Given the description of an element on the screen output the (x, y) to click on. 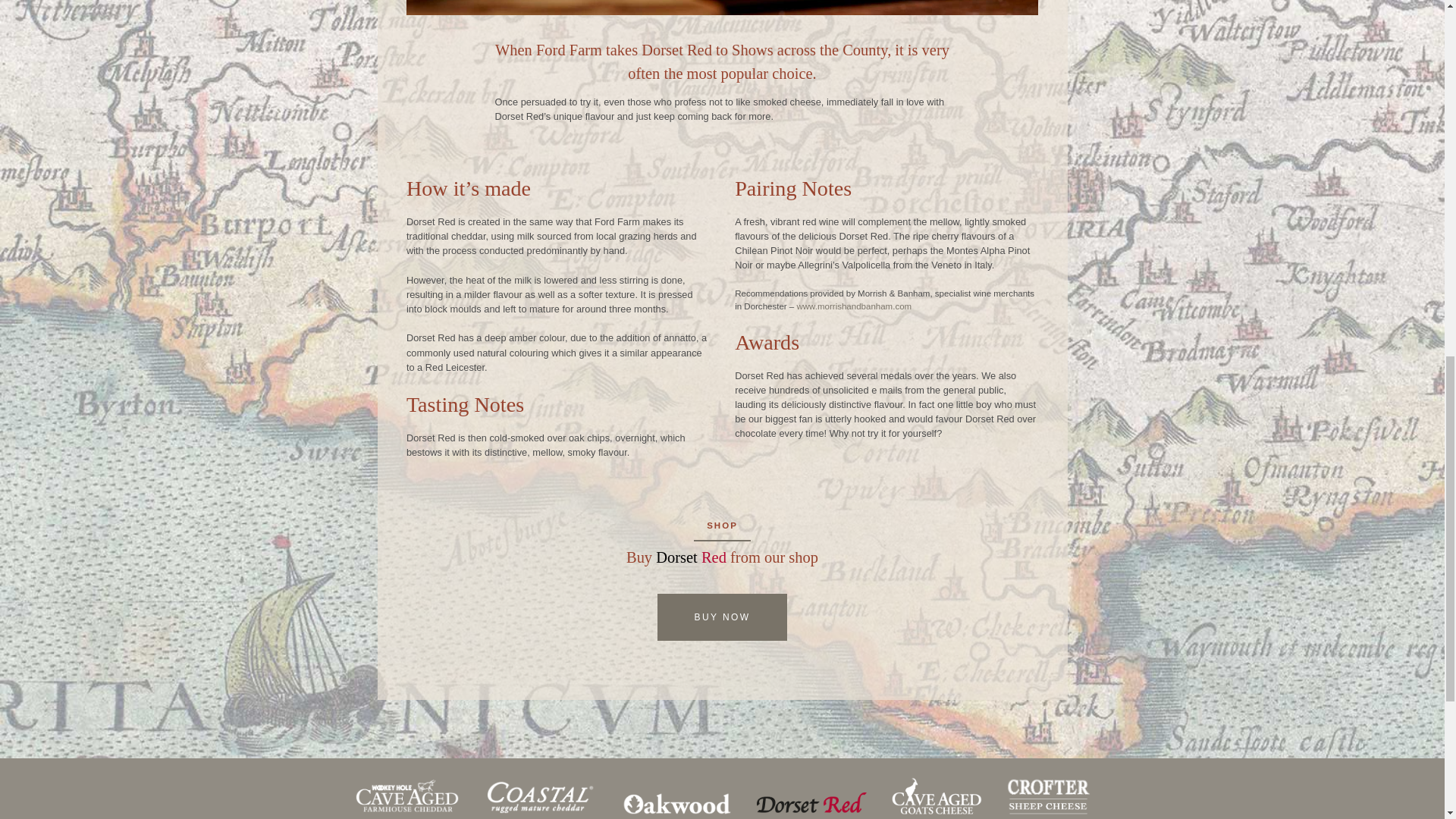
BUY NOW (722, 616)
www.morrishandbanham.com (853, 306)
BUY NOW (722, 616)
